Given the description of an element on the screen output the (x, y) to click on. 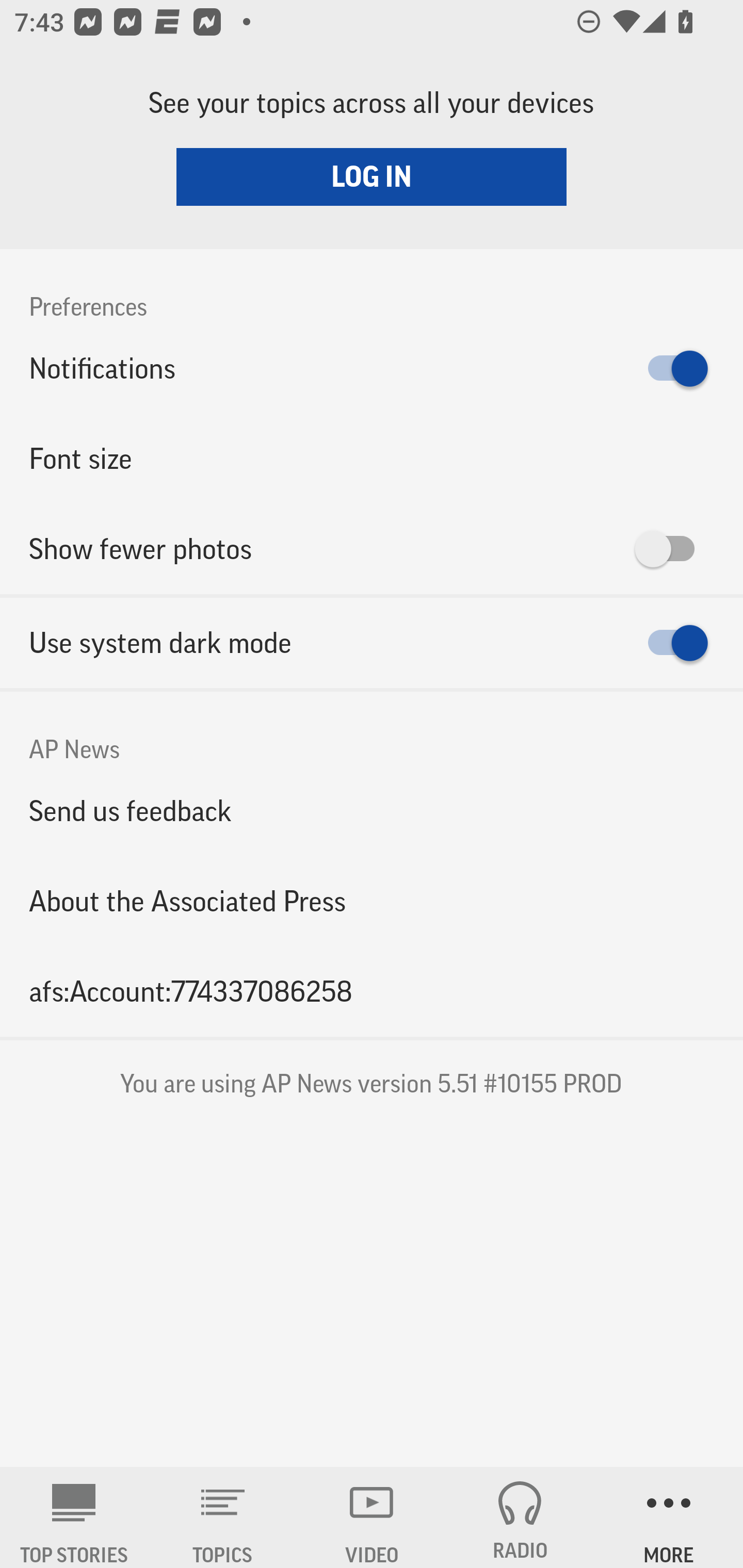
LOG IN (371, 176)
Notifications (371, 368)
Font size (371, 458)
Show fewer photos (371, 548)
Use system dark mode (371, 642)
Send us feedback (371, 810)
About the Associated Press (371, 901)
afs:Account:774337086258 (371, 991)
AP News TOP STORIES (74, 1517)
TOPICS (222, 1517)
VIDEO (371, 1517)
RADIO (519, 1517)
MORE (668, 1517)
